Given the description of an element on the screen output the (x, y) to click on. 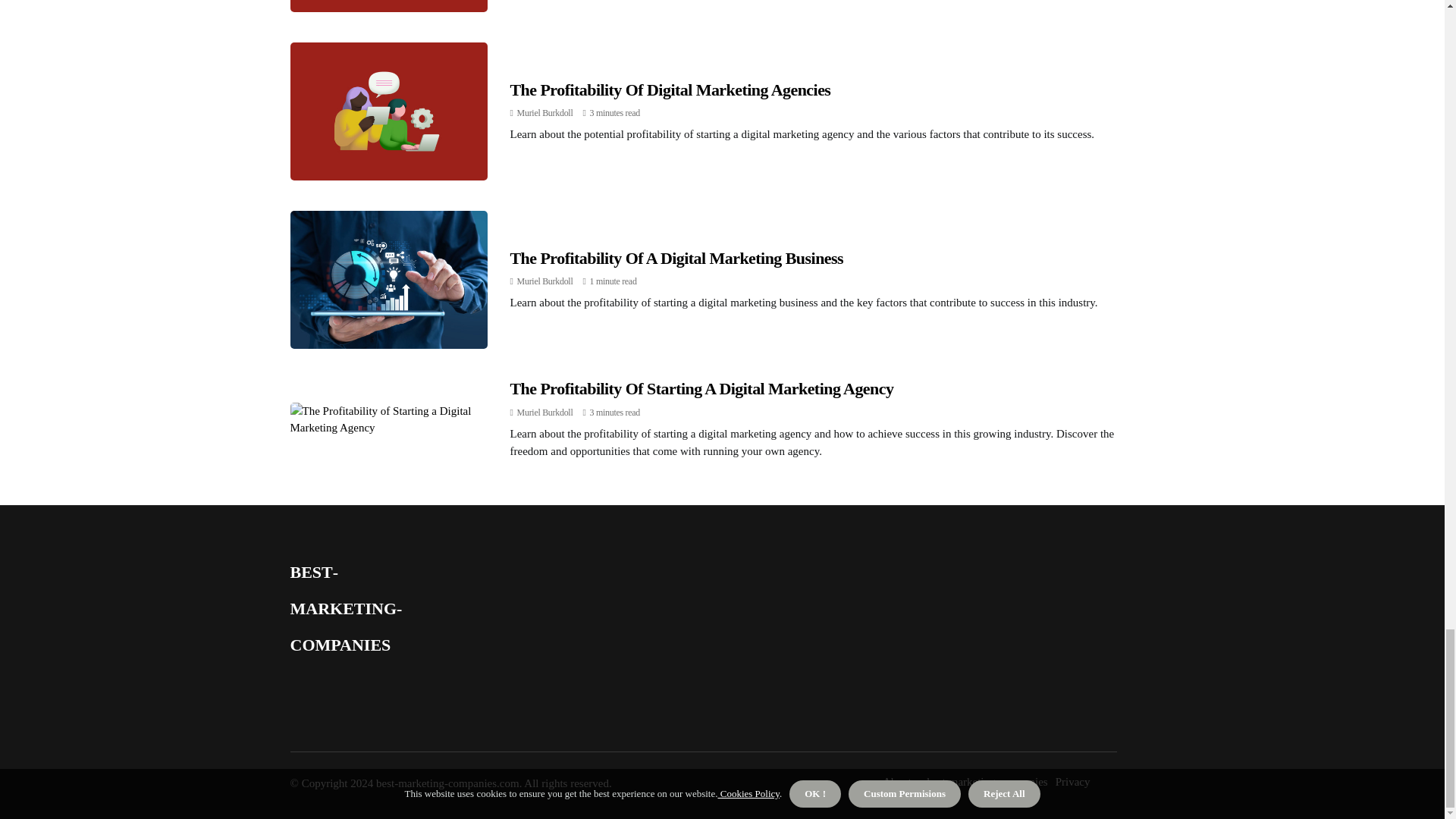
Posts by Muriel Burkdoll (544, 281)
Posts by Muriel Burkdoll (544, 112)
Posts by Muriel Burkdoll (544, 412)
